Given the description of an element on the screen output the (x, y) to click on. 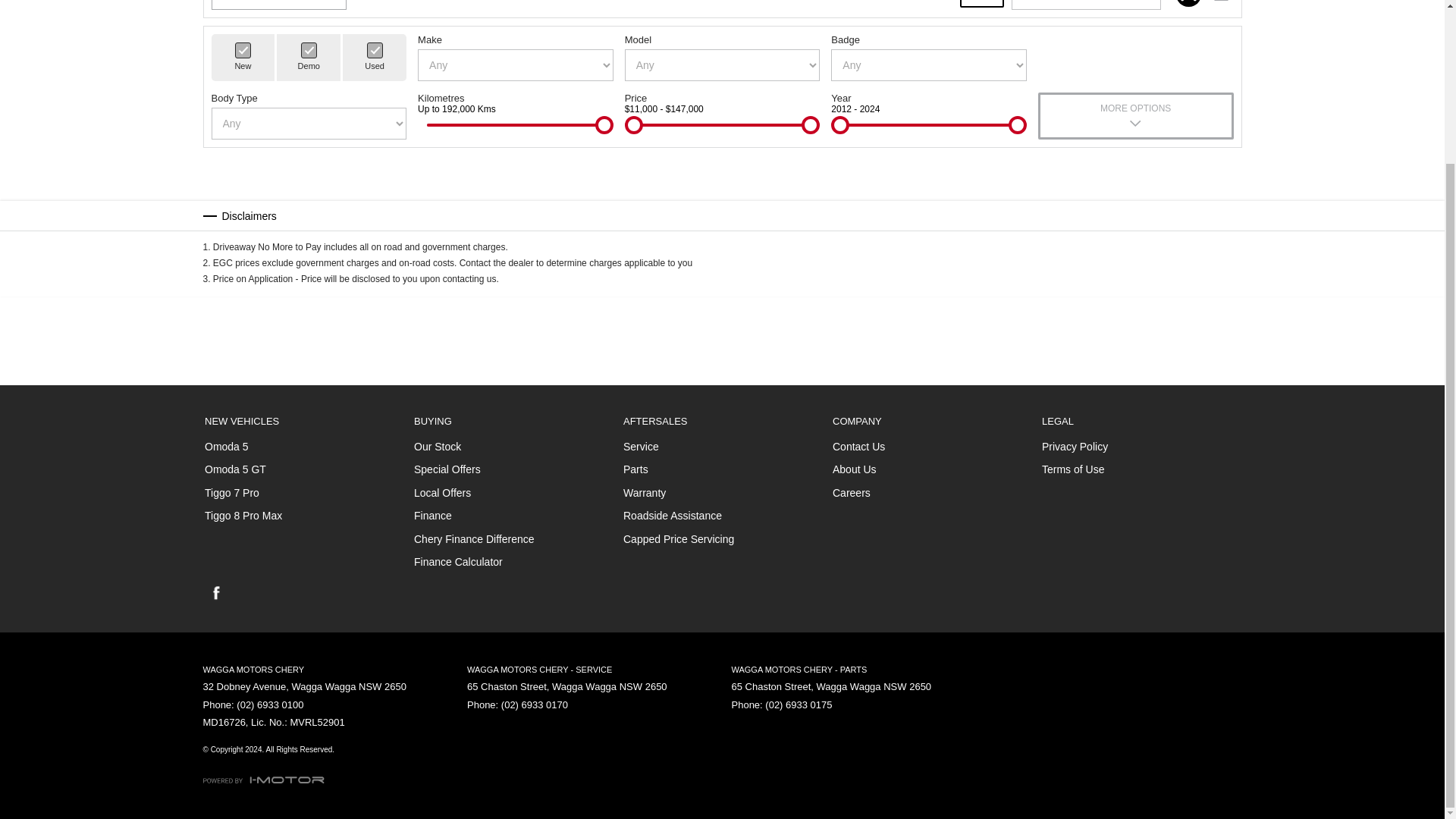
New (242, 50)
Demo (309, 50)
Used (374, 50)
